Given the description of an element on the screen output the (x, y) to click on. 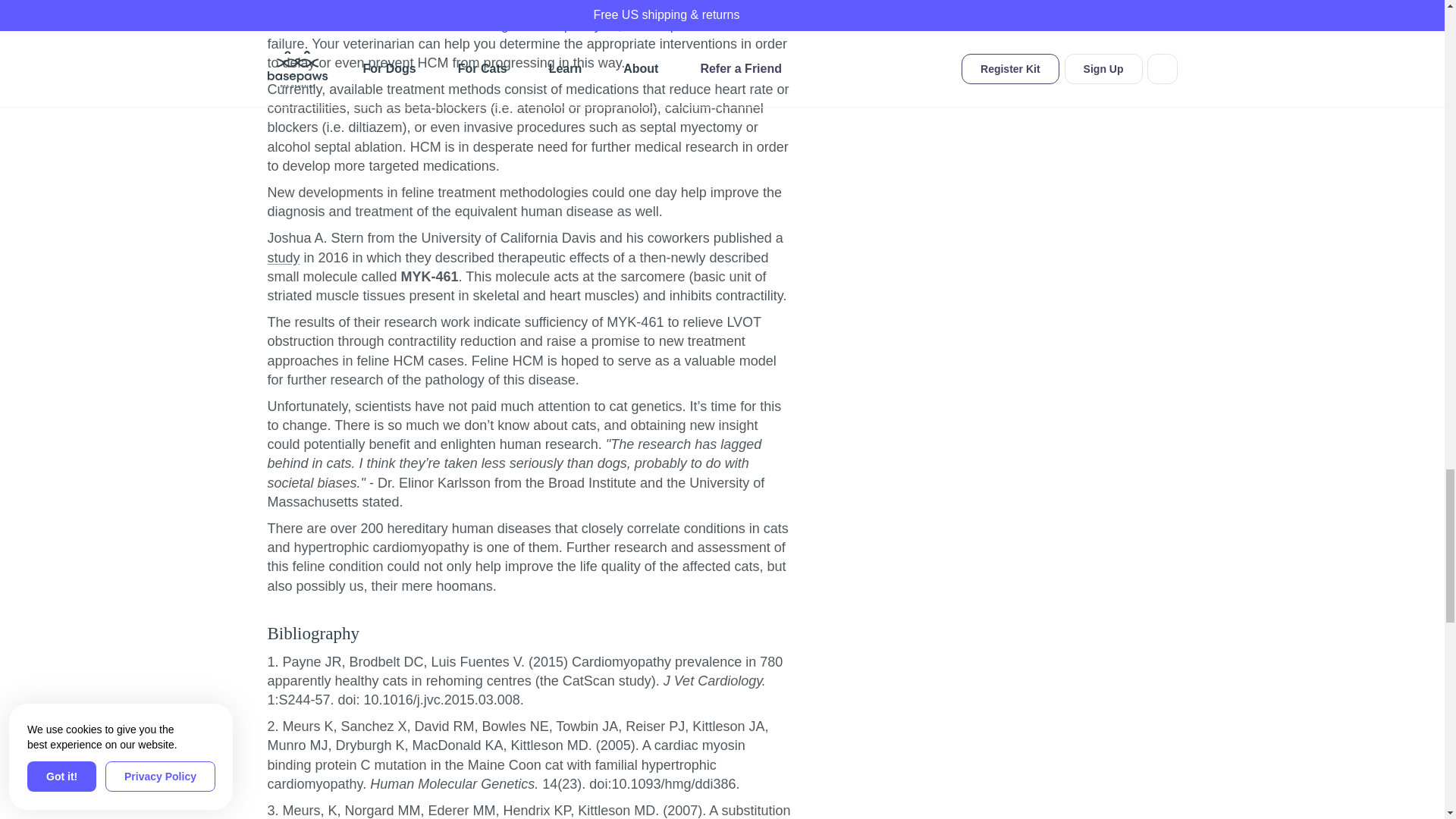
study (282, 257)
